Given the description of an element on the screen output the (x, y) to click on. 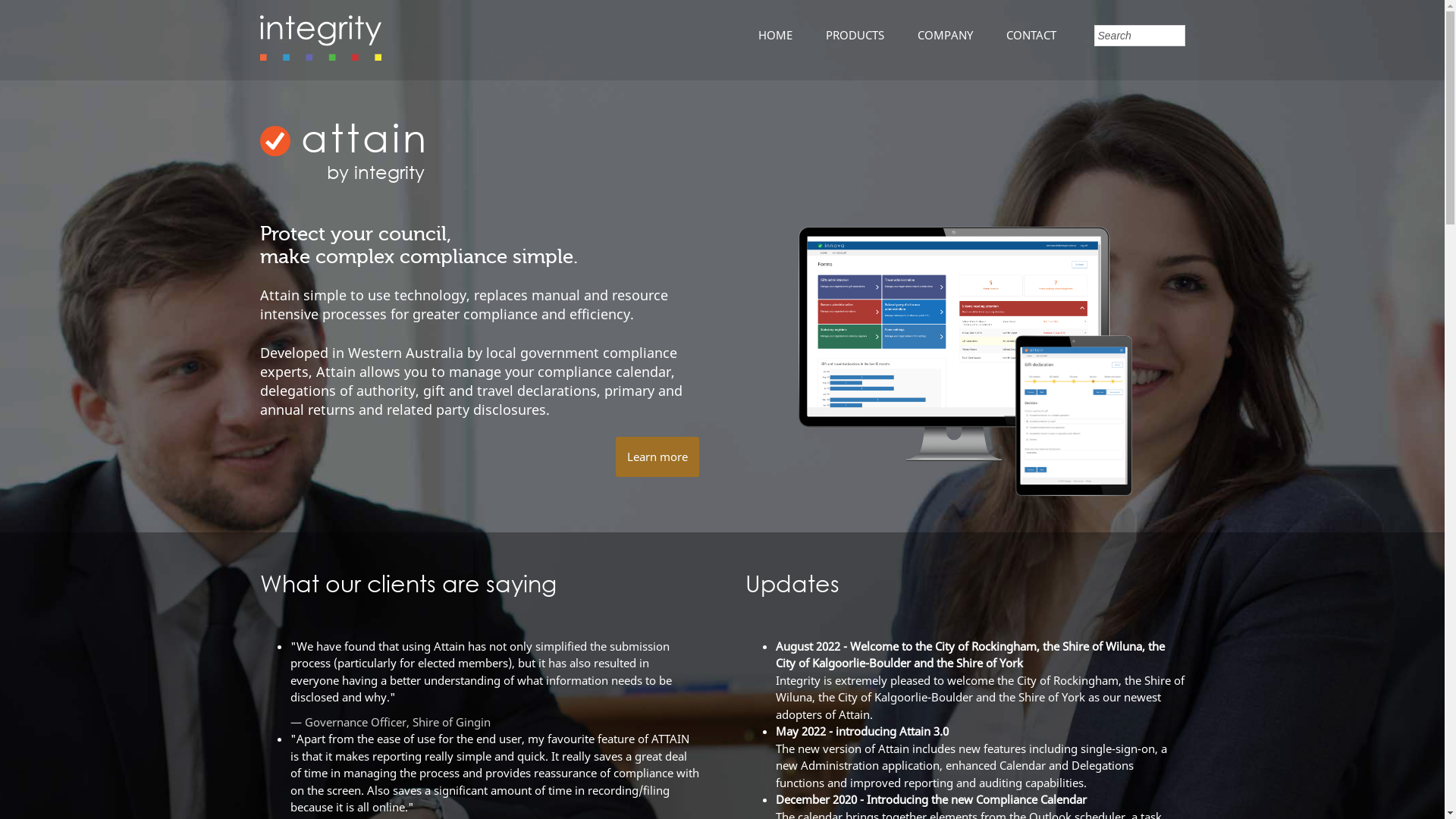
Learn more about Attain Element type: hover (965, 490)
Learn more Element type: text (657, 456)
Search this site Element type: hover (1138, 35)
COMPANY Element type: text (937, 34)
HOME Element type: text (767, 34)
PRODUCTS Element type: text (846, 34)
CONTACT Element type: text (1022, 34)
Integrity Element type: hover (319, 55)
